Given the description of an element on the screen output the (x, y) to click on. 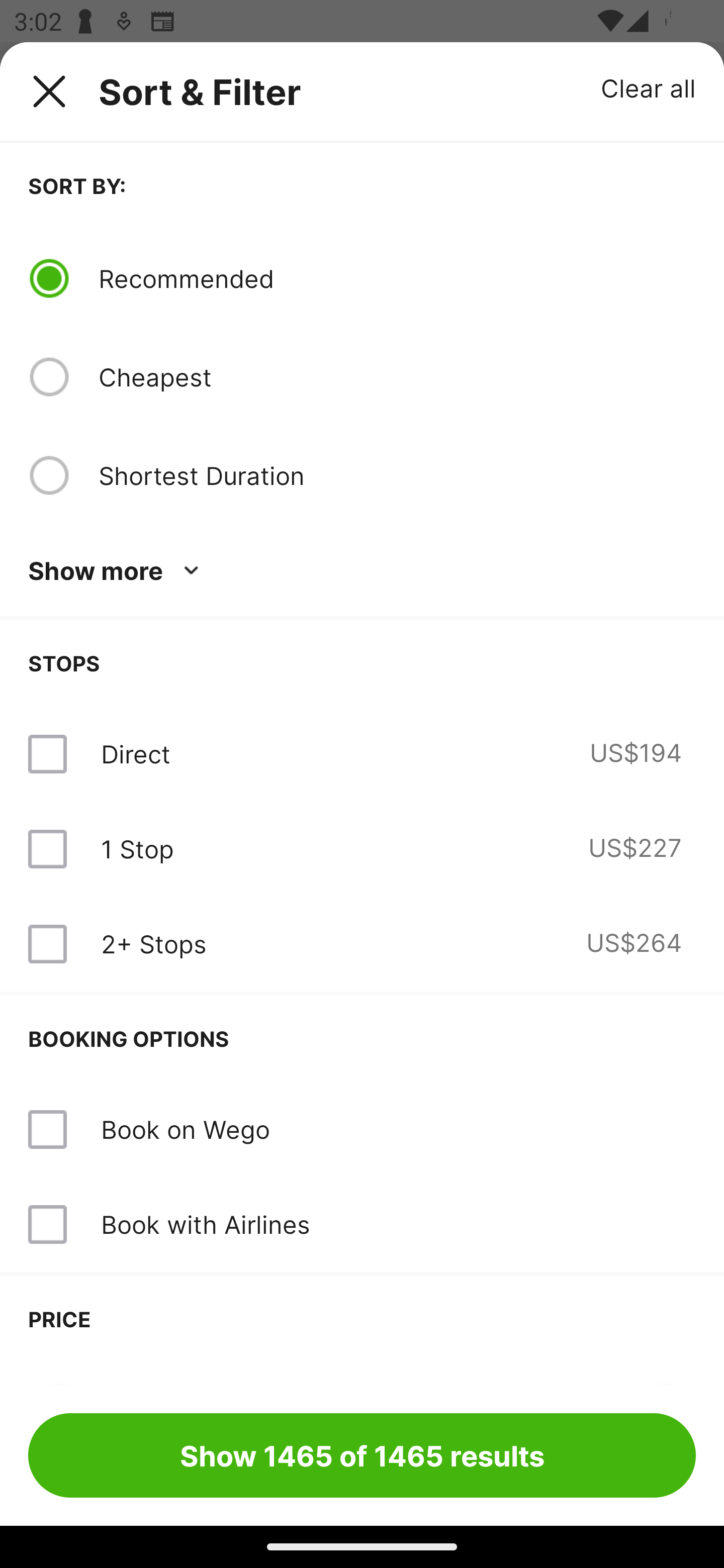
Clear all (648, 87)
Recommended  (396, 278)
Cheapest (396, 377)
Shortest Duration (396, 474)
Show more (116, 570)
Direct US$194 (362, 754)
Direct (135, 753)
1 Stop US$227 (362, 848)
1 Stop (136, 849)
2+ Stops US$264 (362, 943)
2+ Stops (153, 943)
Book on Wego (362, 1129)
Book on Wego (184, 1128)
Book with Airlines (362, 1224)
Book with Airlines (204, 1224)
Show 1465 of 1465 results (361, 1454)
